Given the description of an element on the screen output the (x, y) to click on. 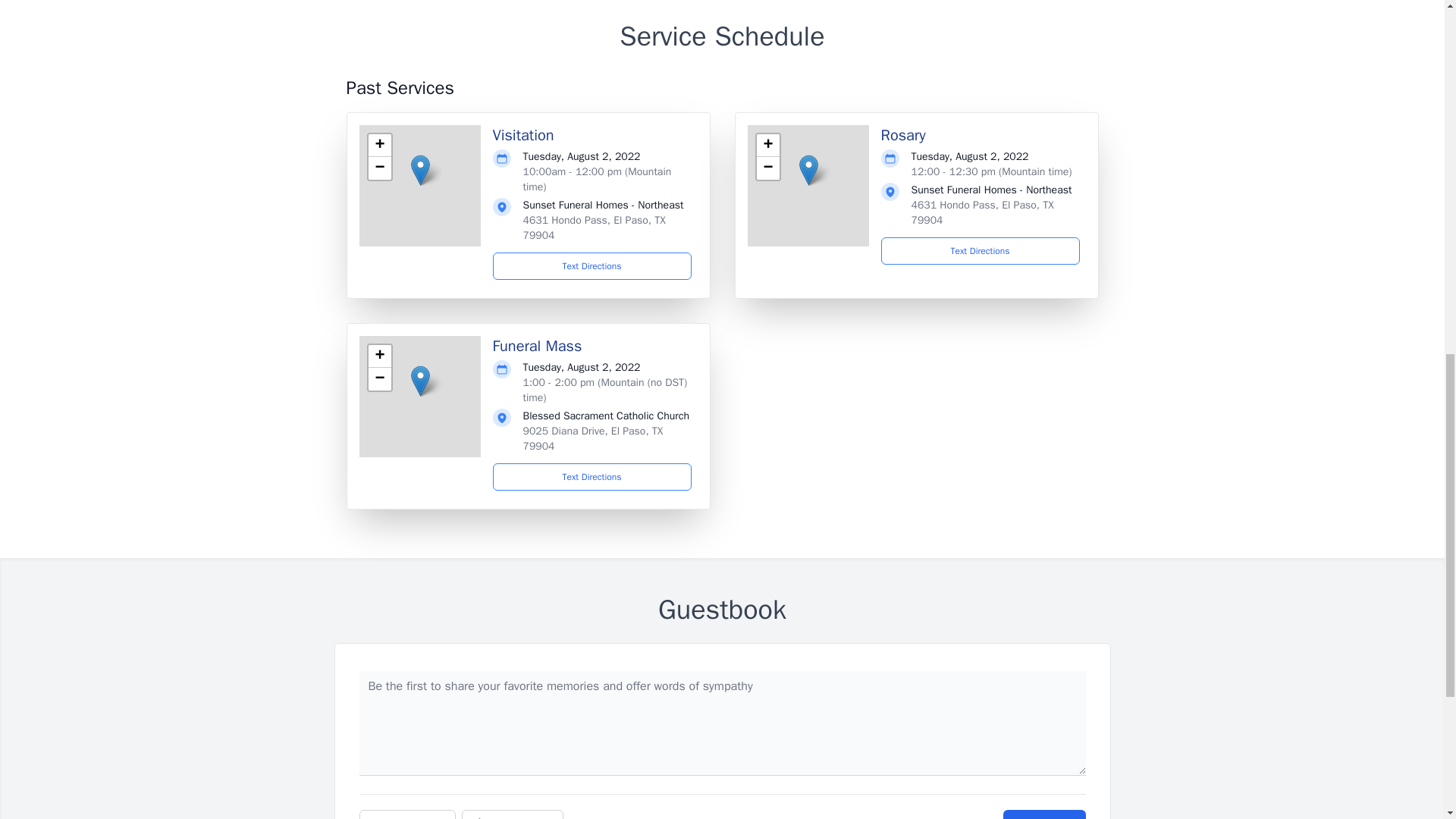
Zoom in (379, 145)
4631 Hondo Pass, El Paso, TX 79904 (593, 227)
9025 Diana Drive, El Paso, TX 79904 (592, 438)
4631 Hondo Pass, El Paso, TX 79904 (982, 212)
Submit Post (1043, 814)
Text Directions (980, 250)
Text Directions (592, 266)
Light Candle (512, 814)
Text Directions (592, 476)
Zoom in (767, 145)
Add Photos (407, 814)
Zoom out (767, 168)
Zoom out (379, 168)
Zoom out (379, 378)
Zoom in (379, 355)
